Given the description of an element on the screen output the (x, y) to click on. 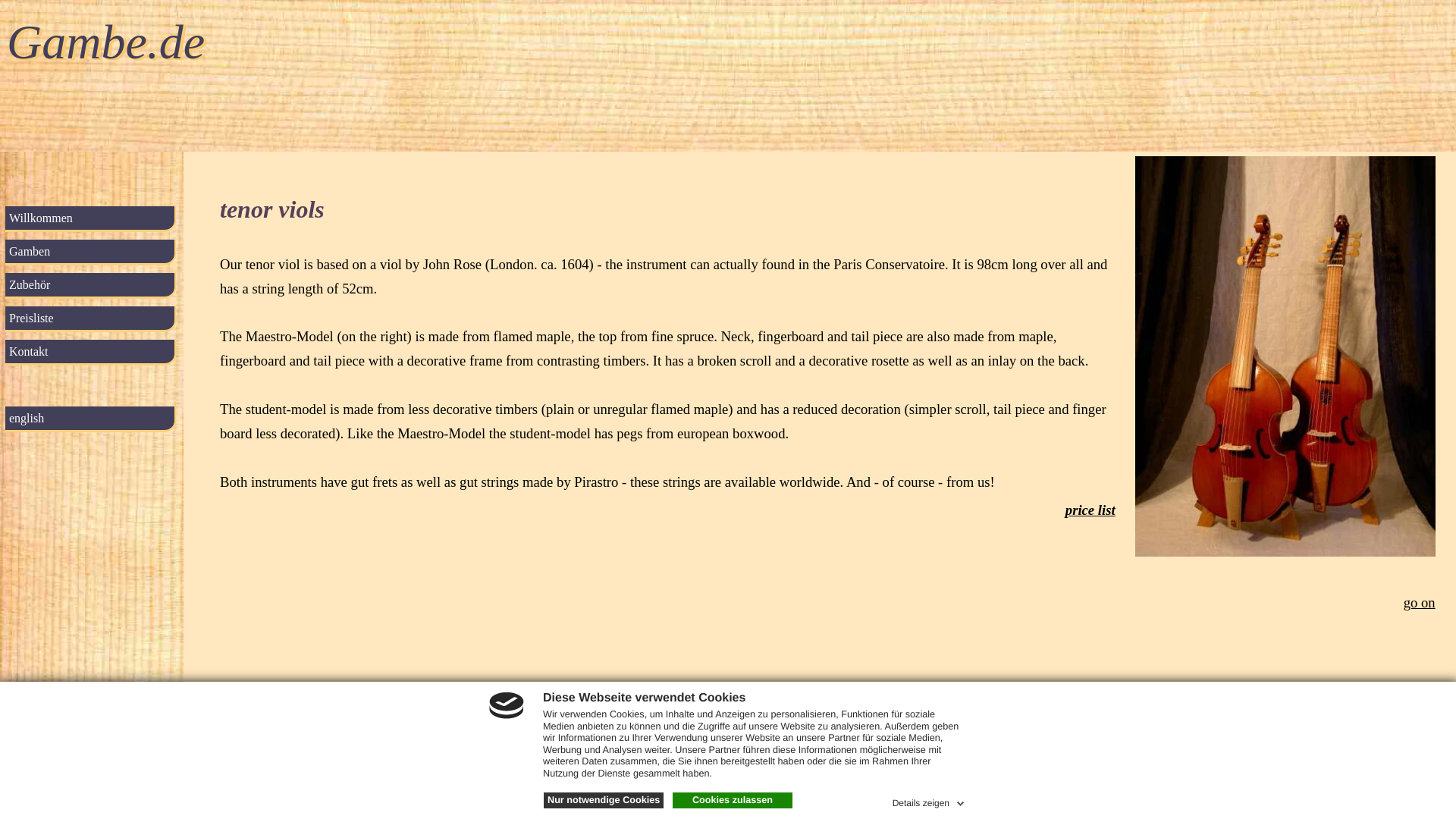
Cookies zulassen (732, 800)
Nur notwendige Cookies (603, 800)
Details zeigen (930, 800)
